Given the description of an element on the screen output the (x, y) to click on. 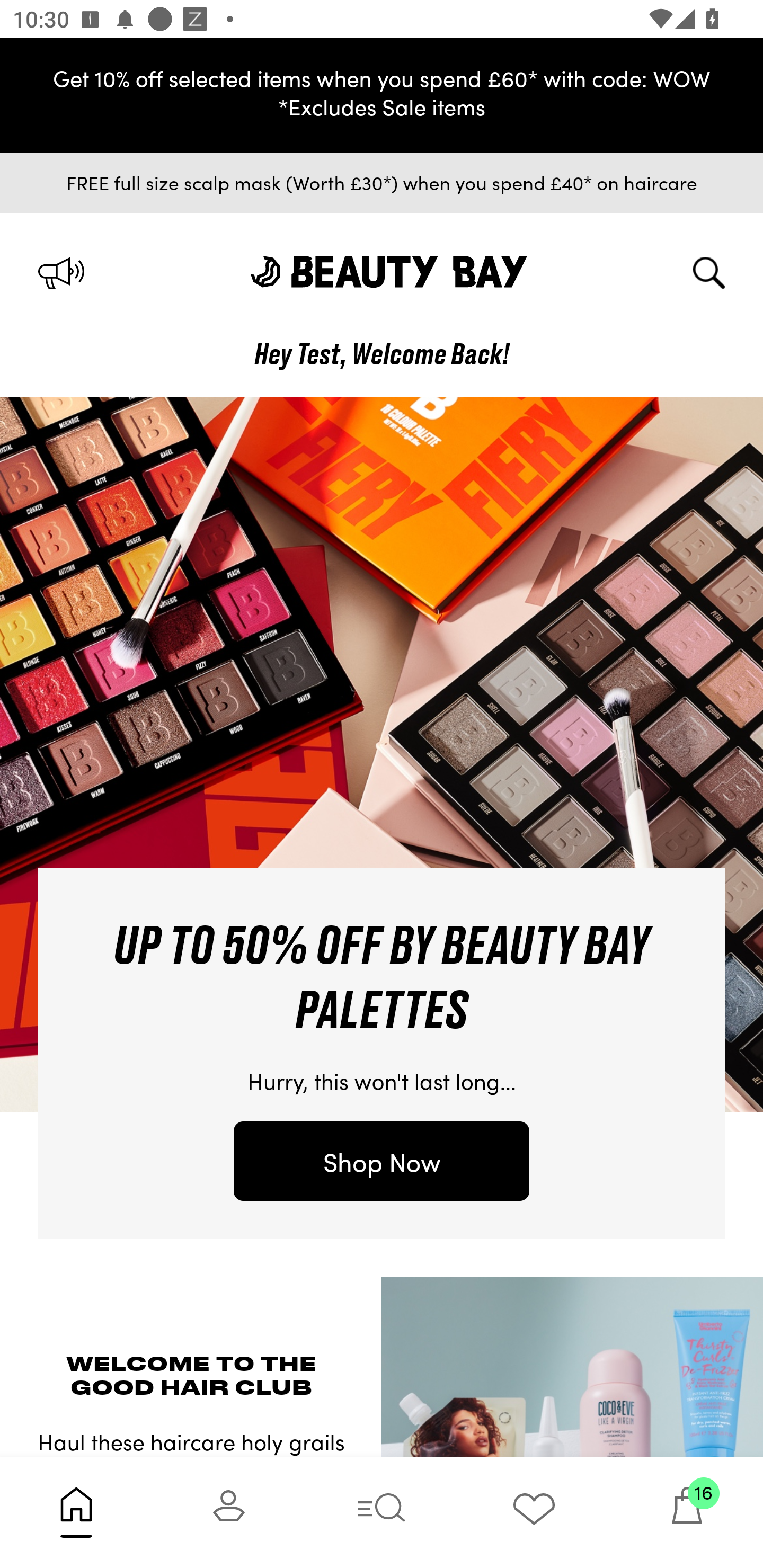
16 (686, 1512)
